Given the description of an element on the screen output the (x, y) to click on. 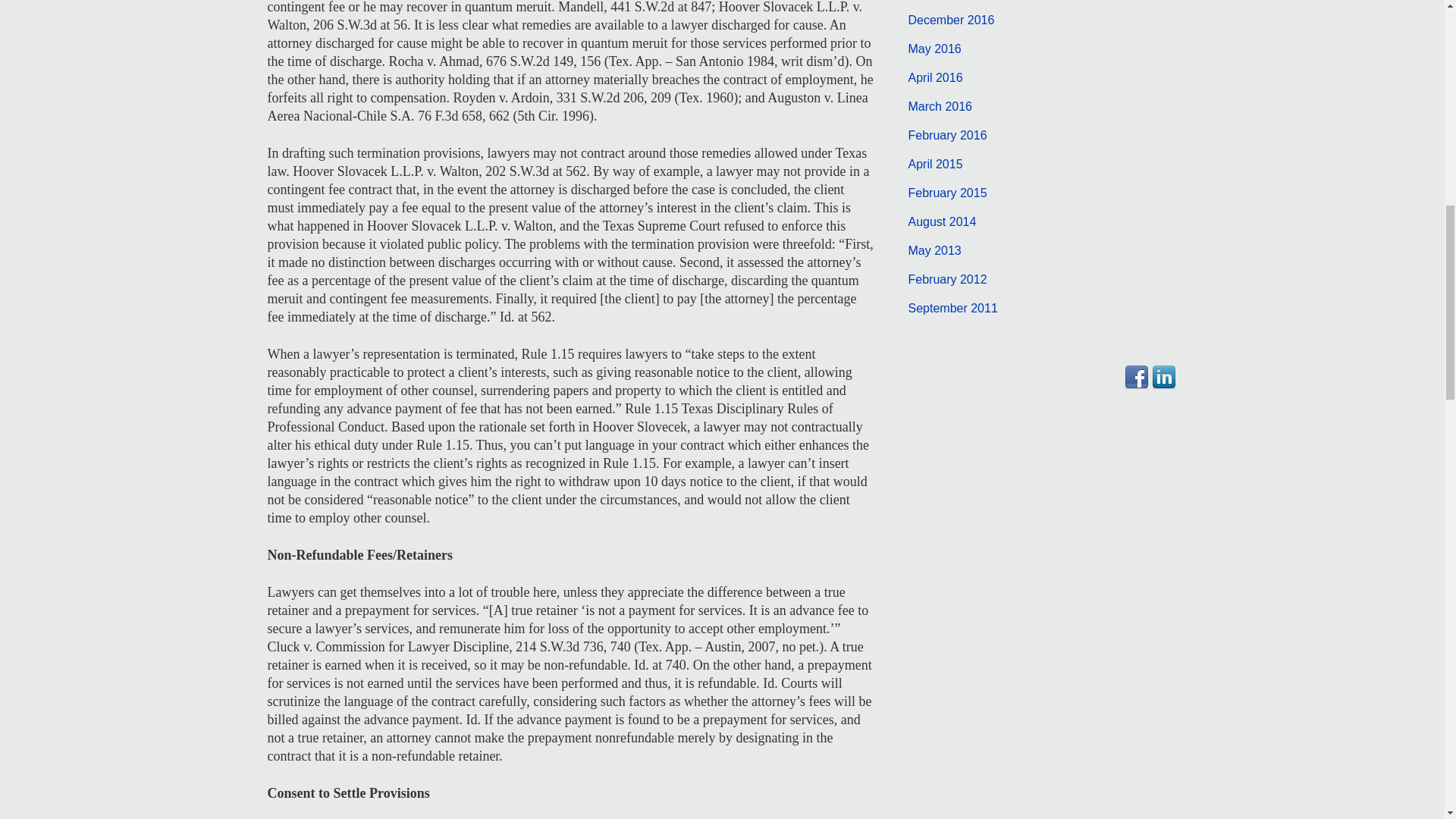
February 2016 (947, 134)
May 2013 (934, 250)
December 2016 (951, 19)
September 2011 (952, 308)
May 2016 (934, 48)
February 2015 (947, 192)
August 2014 (942, 221)
April 2015 (935, 164)
February 2012 (947, 278)
April 2016 (935, 77)
